Given the description of an element on the screen output the (x, y) to click on. 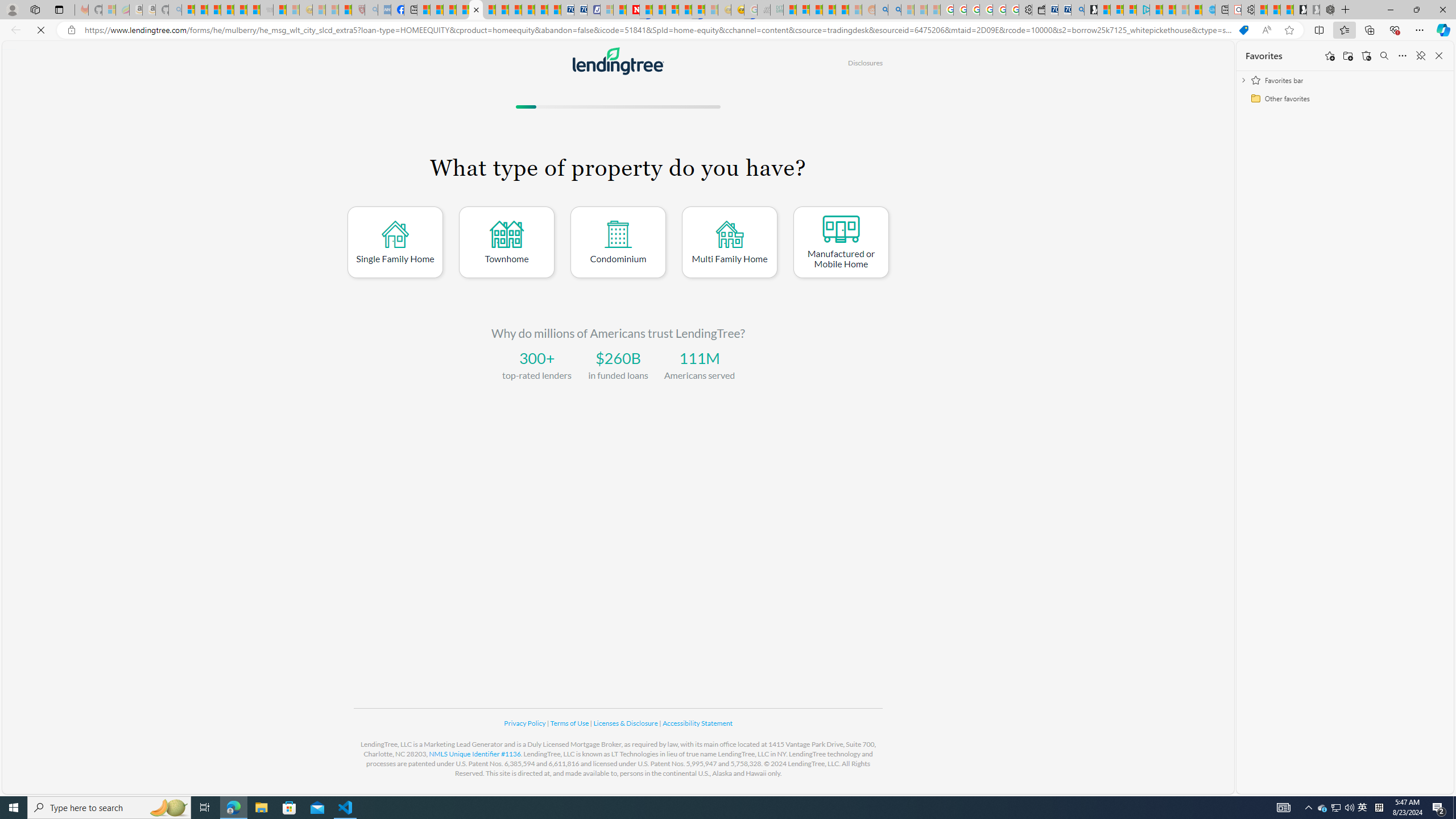
Microsoft account | Privacy (1129, 9)
More options (1402, 55)
Nordace - Nordace Siena Is Not An Ordinary Backpack (1326, 9)
NMLS Unique Identifier #1136 (475, 753)
Recipes - MSN - Sleeping (318, 9)
Add this page to favorites (1330, 55)
World - MSN (449, 9)
Add folder (1347, 55)
Utah sues federal government - Search (894, 9)
